Given the description of an element on the screen output the (x, y) to click on. 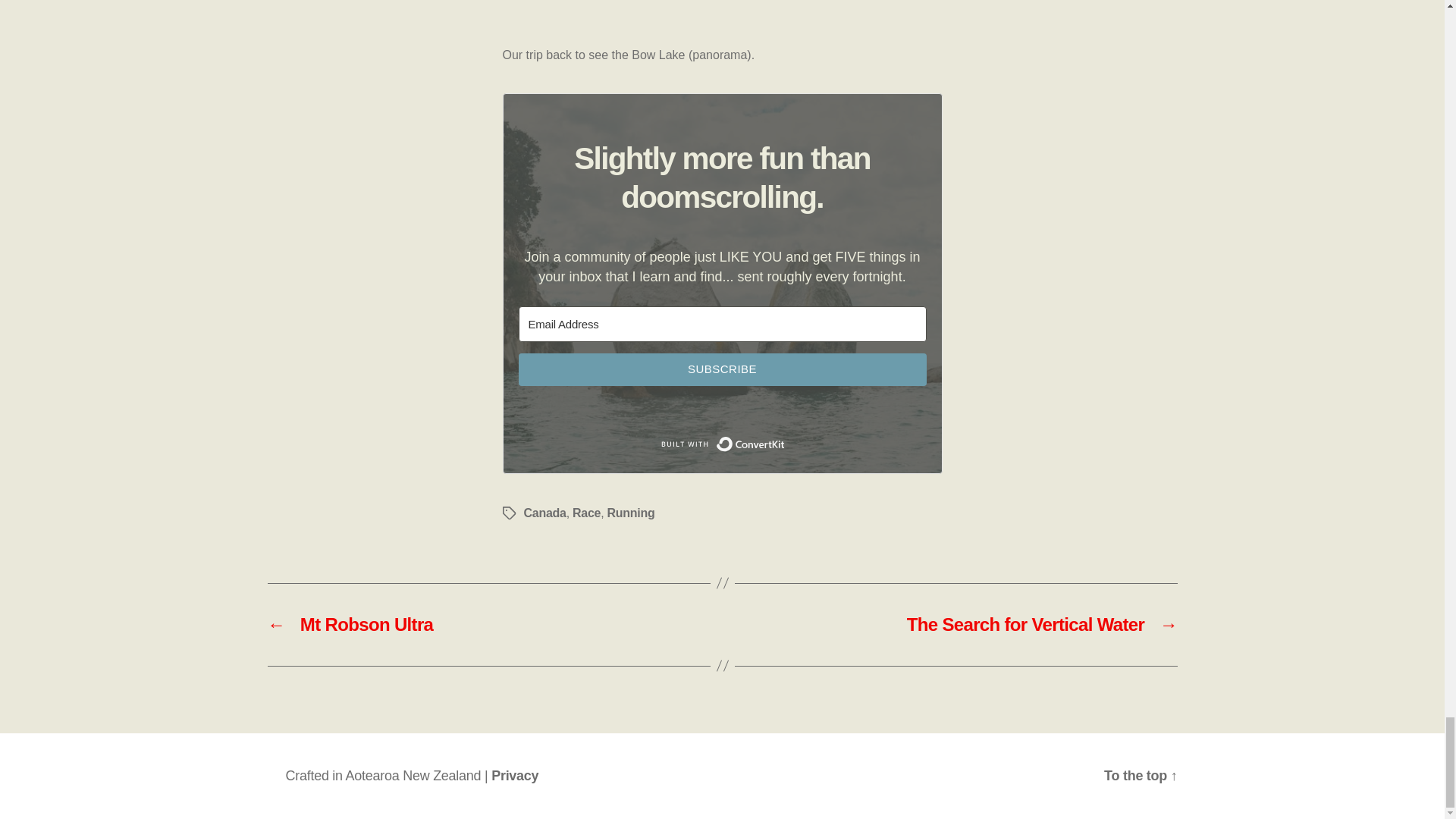
Privacy (515, 775)
Race (585, 512)
Built with ConvertKit (722, 443)
Running (631, 512)
Canada (544, 512)
SUBSCRIBE (722, 368)
